Given the description of an element on the screen output the (x, y) to click on. 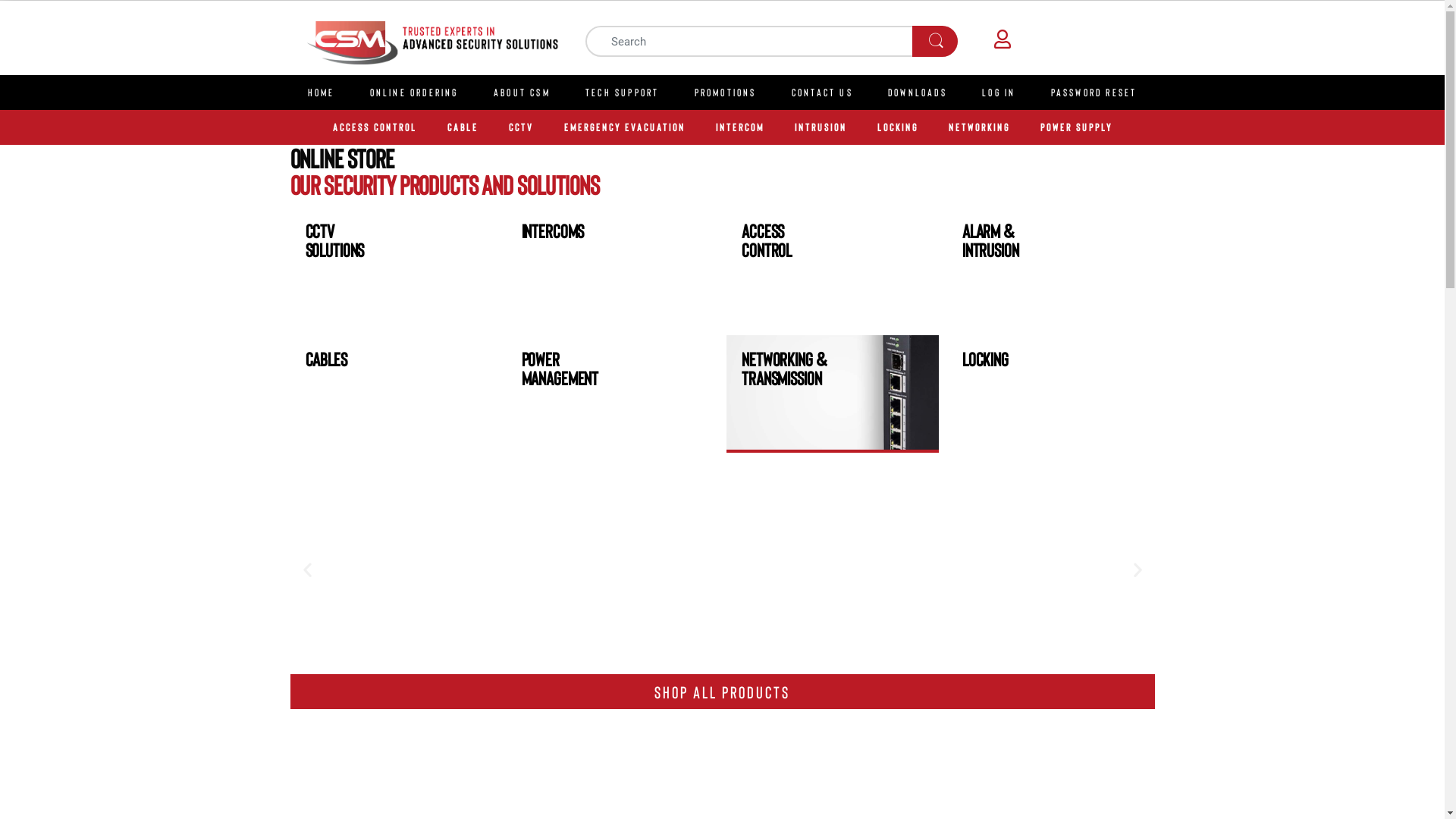
NETWORKING Element type: text (978, 126)
LOCKING Element type: text (896, 126)
CCTV Element type: text (520, 126)
PROMOTIONS Element type: text (724, 92)
Log In Element type: text (998, 92)
CABLE Element type: text (462, 126)
DOWNLOADS Element type: text (917, 92)
INTRUSION Element type: text (820, 126)
POWER SUPPLY Element type: text (1076, 126)
INTERCOM Element type: text (739, 126)
ACCESS CONTROL Element type: text (373, 126)
ABOUT CSM Element type: text (521, 92)
TECH SUPPORT Element type: text (622, 92)
ONLINE ORDERING Element type: text (414, 92)
HOME Element type: text (320, 92)
CONTACT US Element type: text (822, 92)
PASSWORD RESET Element type: text (1093, 92)
EMERGENCY EVACUATION Element type: text (624, 126)
SHOP ALL PRODUCTS Element type: text (721, 691)
